Given the description of an element on the screen output the (x, y) to click on. 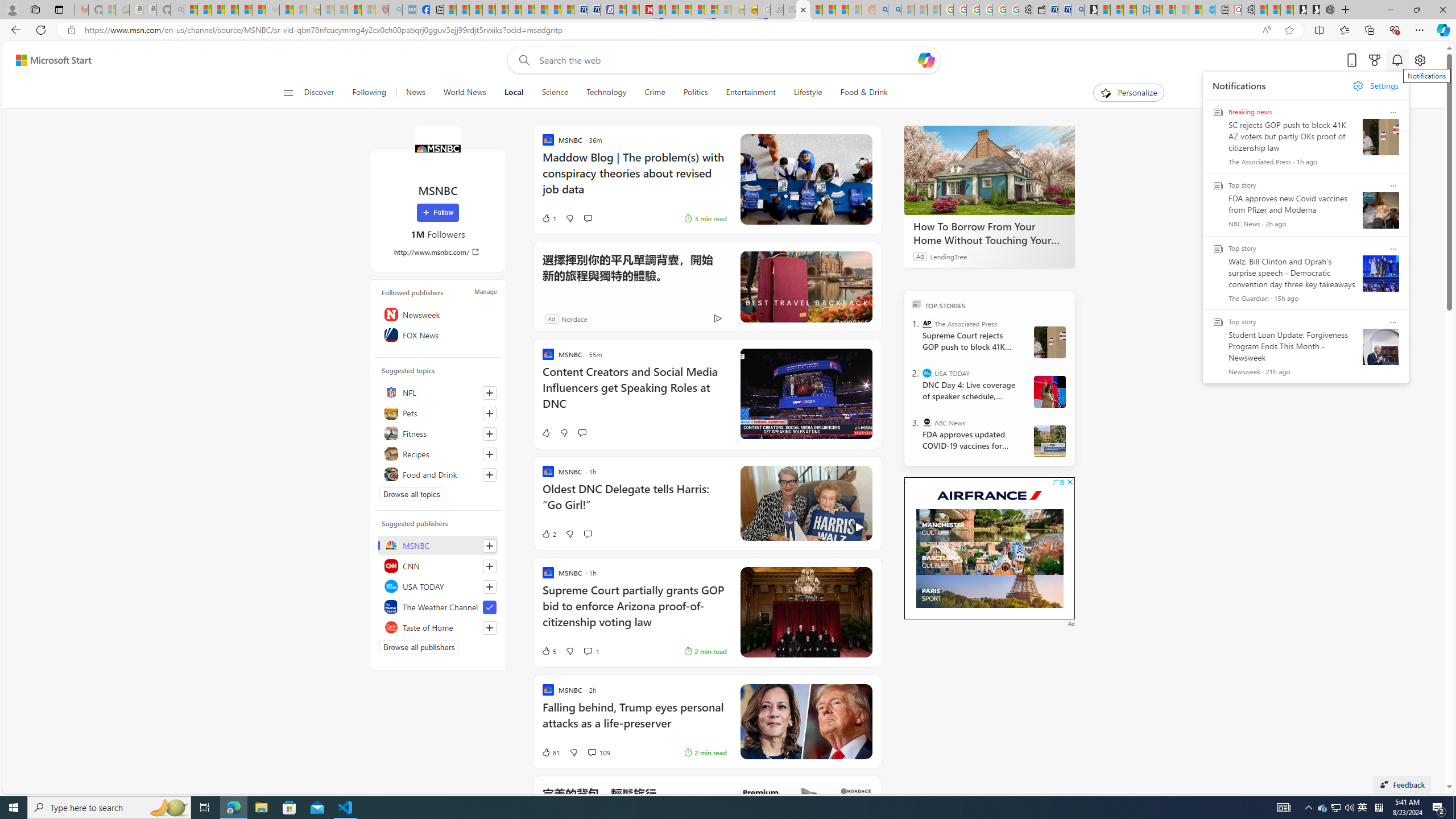
Start the conversation (587, 533)
Newsweek (437, 314)
World News (464, 92)
Politics (695, 92)
Microsoft rewards (1374, 60)
Skip to footer (46, 59)
Open navigation menu (287, 92)
Politics (694, 92)
